Given the description of an element on the screen output the (x, y) to click on. 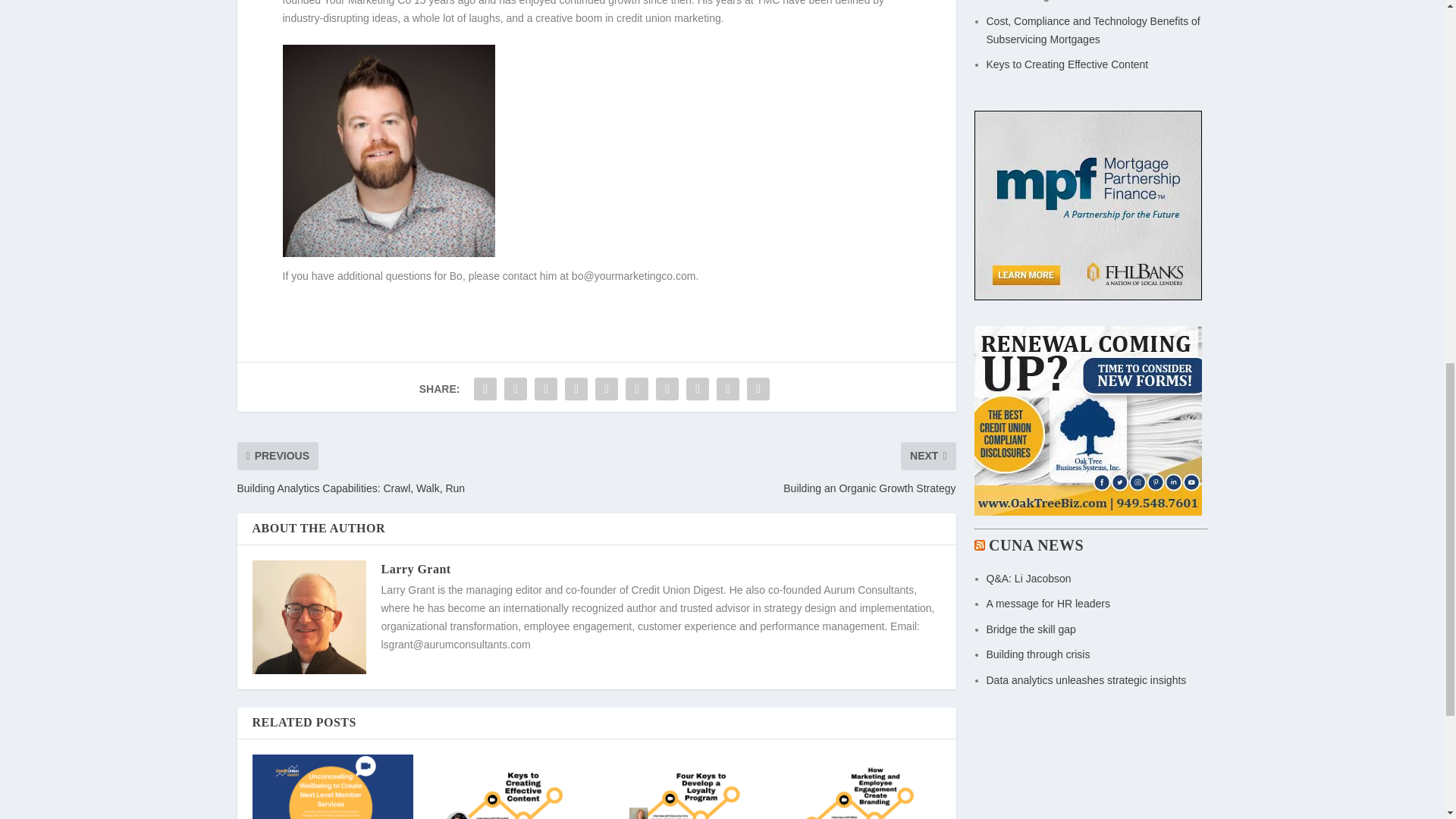
Share "Strategy and Marketing: The Perfect Pair" via Tumblr (575, 388)
Share "Strategy and Marketing: The Perfect Pair" via Print (757, 388)
Larry Grant (414, 568)
Share "Strategy and Marketing: The Perfect Pair" via Buffer (667, 388)
Share "Strategy and Marketing: The Perfect Pair" via Twitter (515, 388)
View all posts by Larry Grant (414, 568)
Share "Strategy and Marketing: The Perfect Pair" via Email (727, 388)
